Given the description of an element on the screen output the (x, y) to click on. 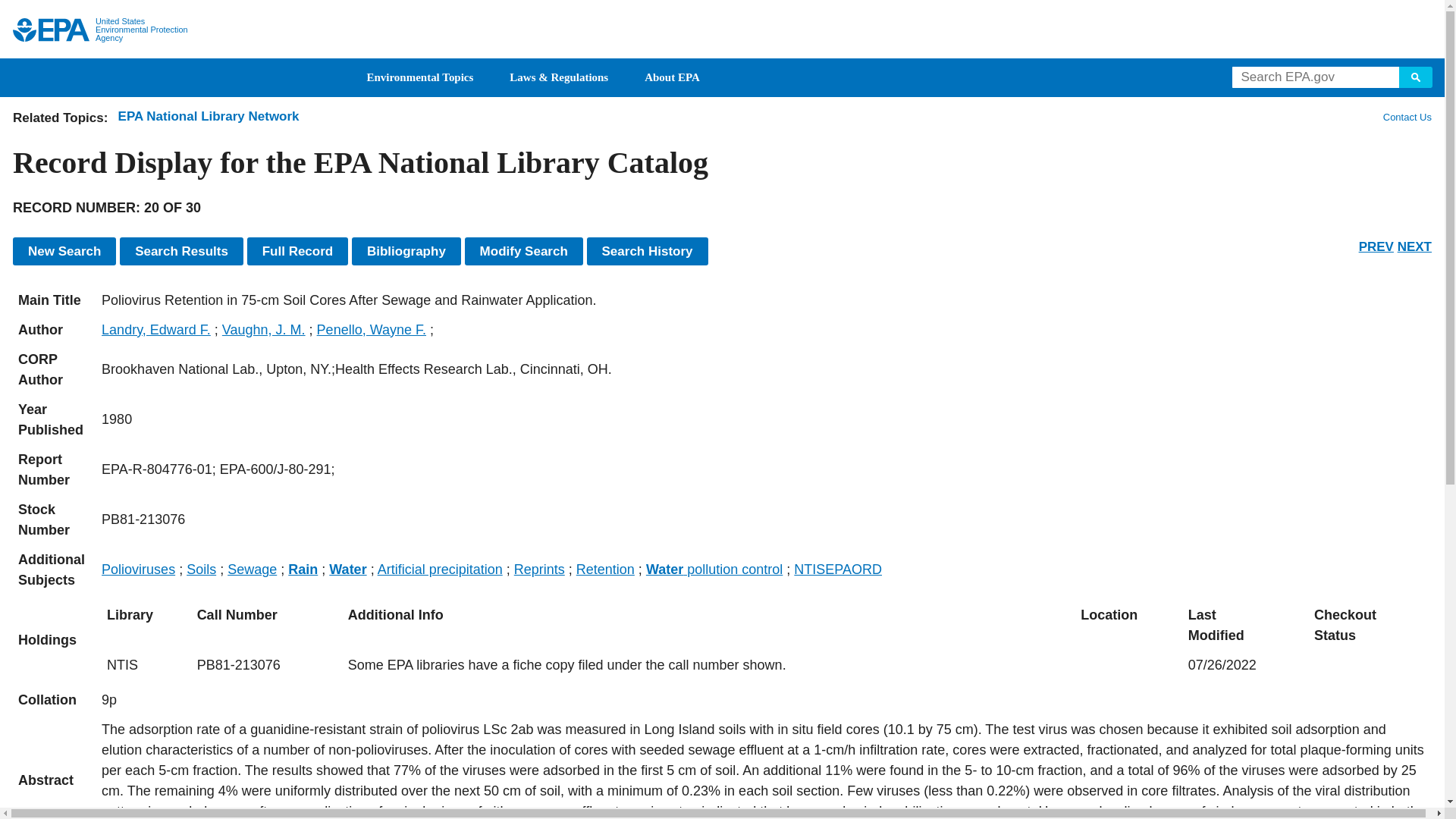
Environmental Topics (420, 77)
Your Search History (646, 251)
Contact Us (1406, 117)
Create a New Search (64, 251)
Learn about Environmental Topics that EPA covers. (420, 77)
full length text available by clicking full record (763, 769)
Polioviruses (137, 569)
Search (1415, 76)
New Search (64, 251)
Bibliography (406, 251)
Soils (200, 569)
Modify the existing search criteria (523, 251)
Retention (605, 569)
Artificial precipitation (439, 569)
Rain (302, 569)
